Given the description of an element on the screen output the (x, y) to click on. 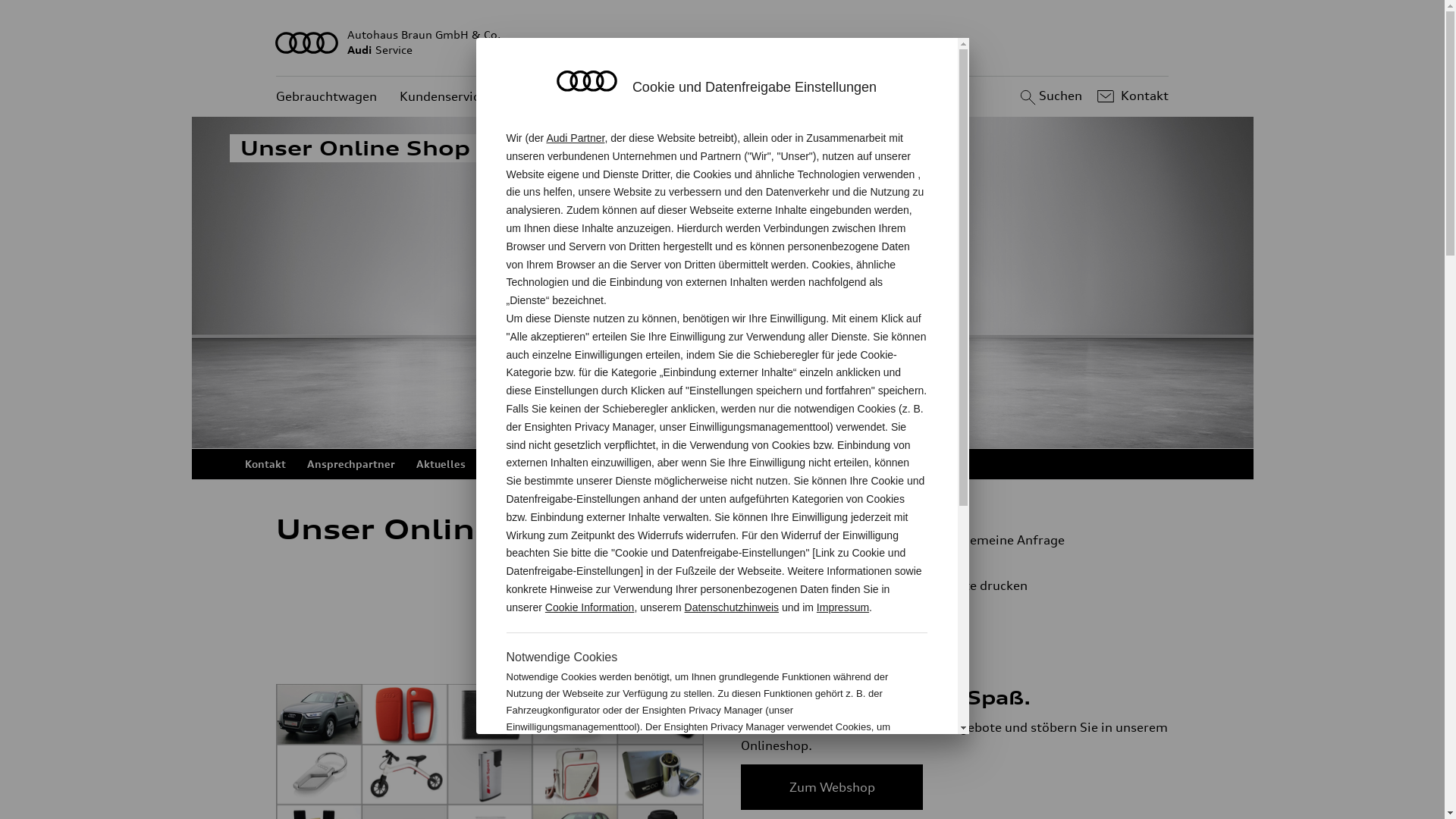
Seite drucken Element type: text (1044, 585)
Cookie Information Element type: text (589, 607)
Zum Webshop Element type: text (831, 786)
Kontakt Element type: text (1130, 96)
Allgemeine Anfrage Element type: text (1038, 539)
Veranstaltungen Element type: text (634, 463)
Kundenservice Element type: text (442, 96)
Autohaus Braun GmbH & Co.
AudiService Element type: text (722, 42)
Online Shop Element type: text (730, 463)
Suchen Element type: text (1049, 96)
Kontakt Element type: text (264, 463)
Ansprechpartner Element type: text (349, 463)
Audi Partner Element type: text (575, 137)
Karriere Element type: text (804, 463)
Auszeichnungen Element type: text (528, 463)
Gebrauchtwagen Element type: text (326, 96)
Datenschutzhinweis Element type: text (731, 607)
Impressum Element type: text (842, 607)
Cookie Information Element type: text (847, 776)
Aktuelles Element type: text (439, 463)
